Given the description of an element on the screen output the (x, y) to click on. 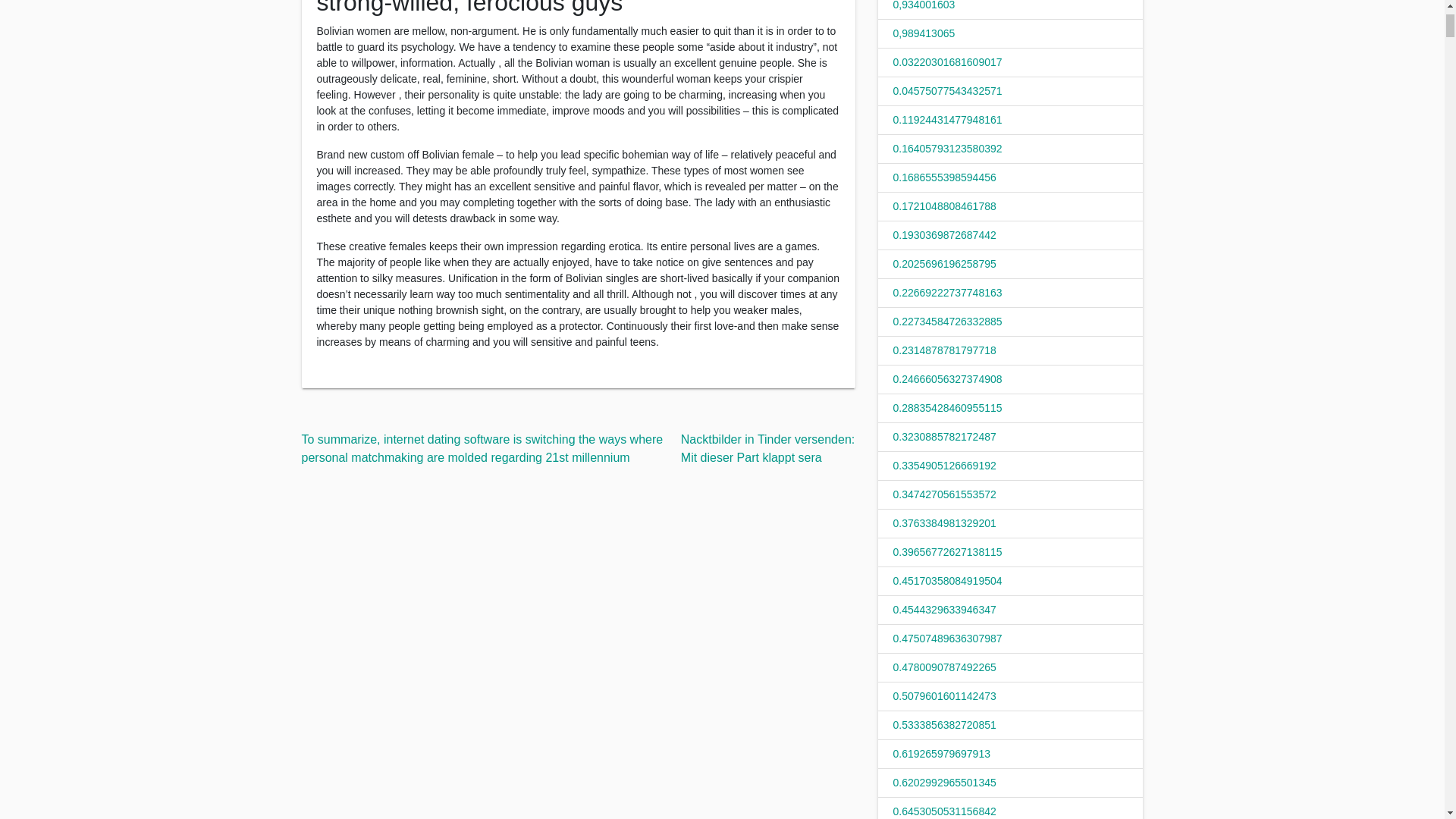
0.03220301681609017 (948, 61)
0.04575077543432571 (948, 91)
0.1686555398594456 (944, 177)
Nacktbilder in Tinder versenden: Mit dieser Part klappt sera (767, 448)
0,989413065 (924, 33)
0.16405793123580392 (948, 148)
0,934001603 (924, 5)
0.11924431477948161 (948, 119)
